Given the description of an element on the screen output the (x, y) to click on. 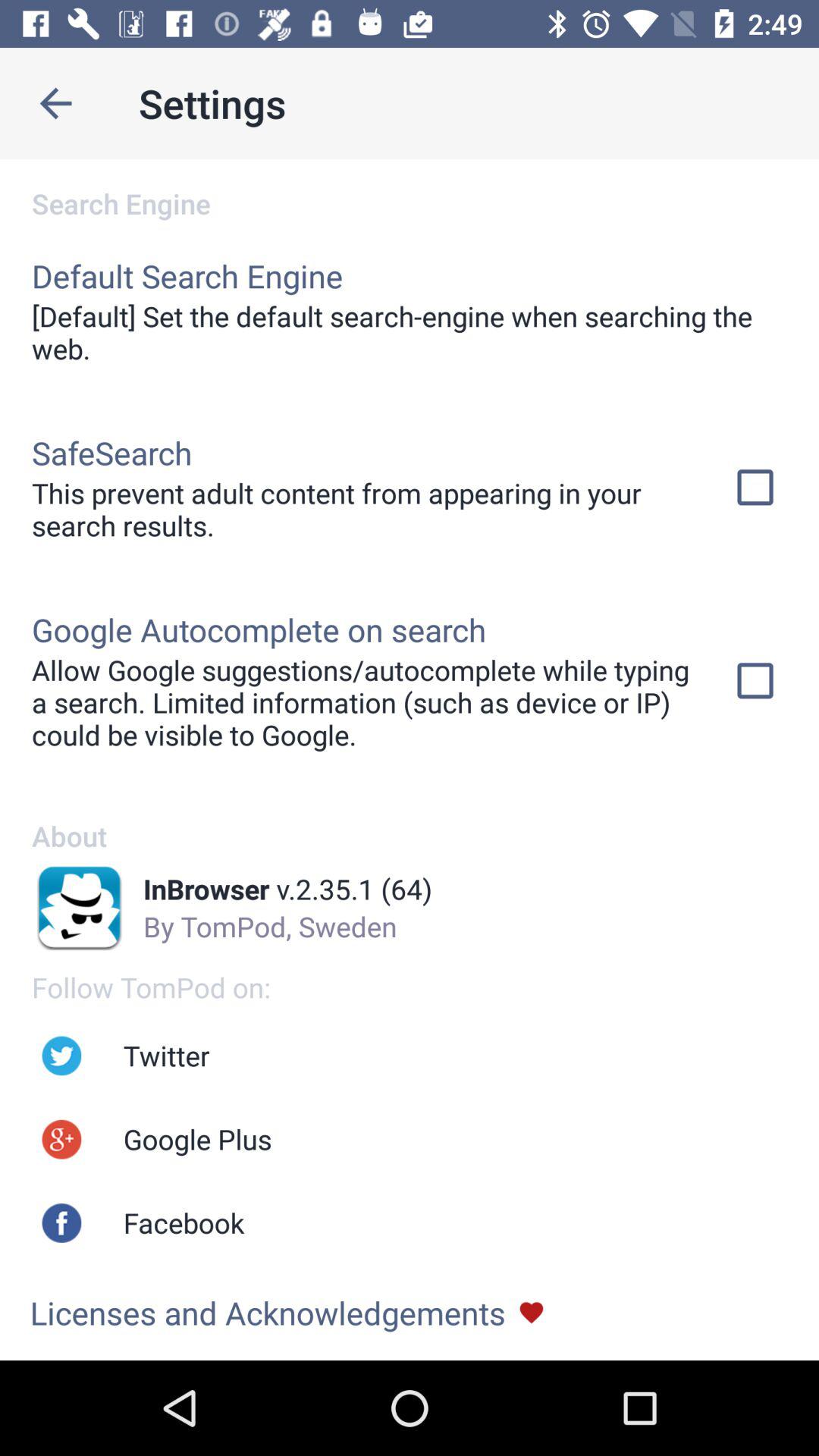
jump to about (409, 819)
